Given the description of an element on the screen output the (x, y) to click on. 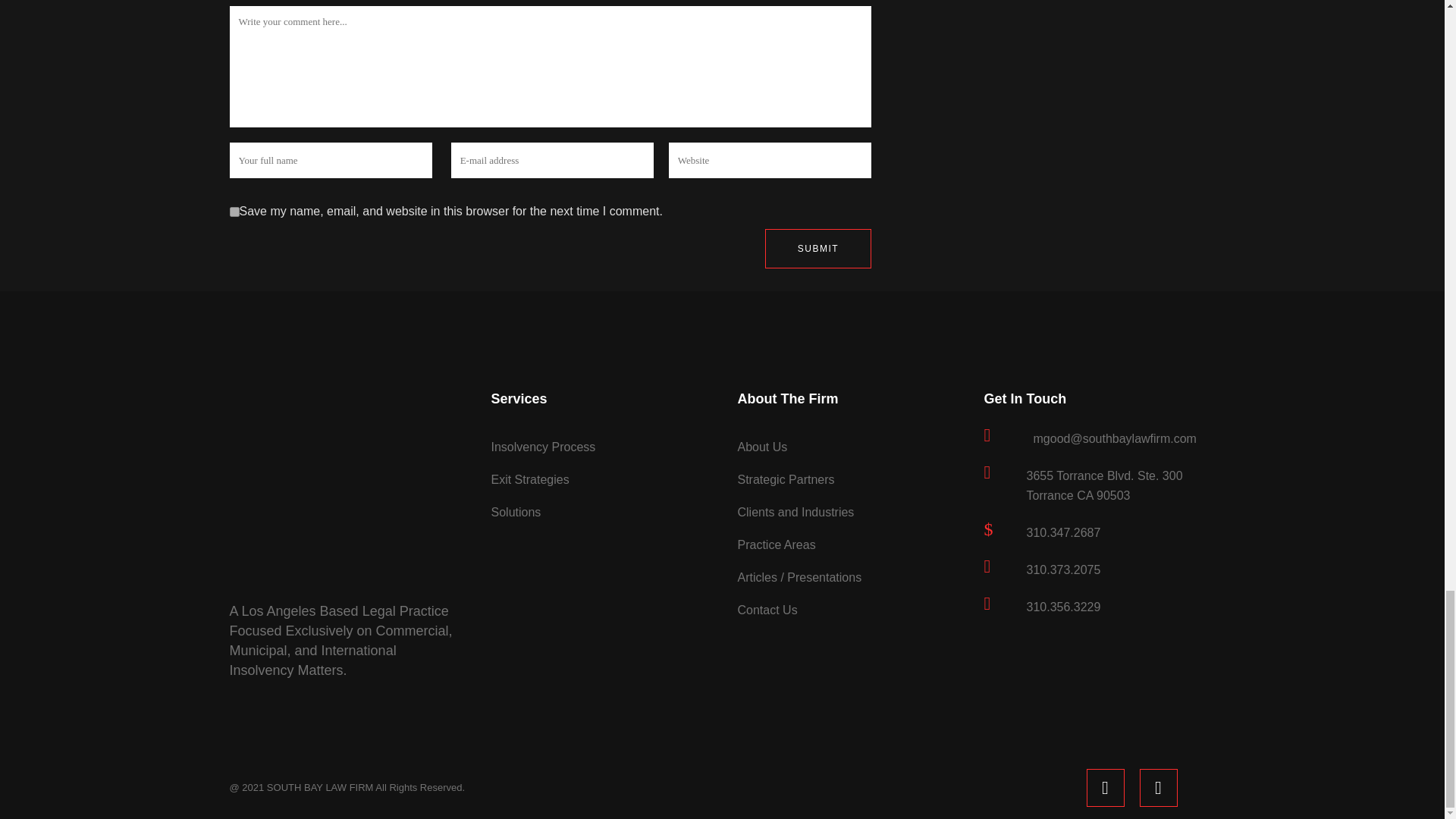
Submit (817, 248)
yes (233, 212)
